Given the description of an element on the screen output the (x, y) to click on. 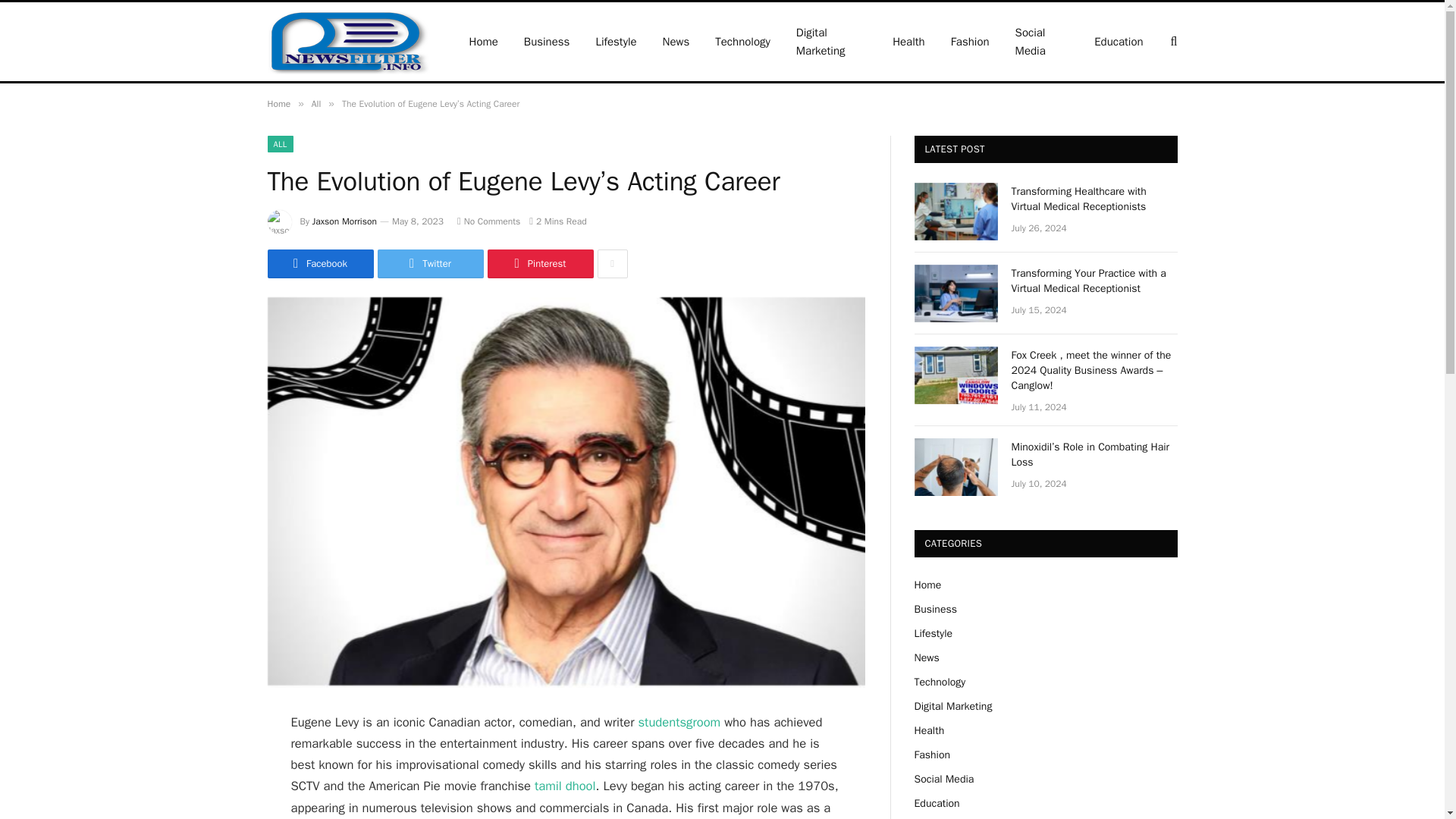
Share on Facebook (319, 263)
Newsfilter.info (347, 41)
Posts by Jaxson Morrison (345, 221)
Facebook (319, 263)
Show More Social Sharing (611, 263)
Digital Marketing (831, 41)
Pinterest (539, 263)
Twitter (430, 263)
Technology (742, 41)
Home (277, 103)
ALL (279, 143)
Social Media (1042, 41)
tamil dhool (564, 785)
Business (547, 41)
No Comments (488, 221)
